Given the description of an element on the screen output the (x, y) to click on. 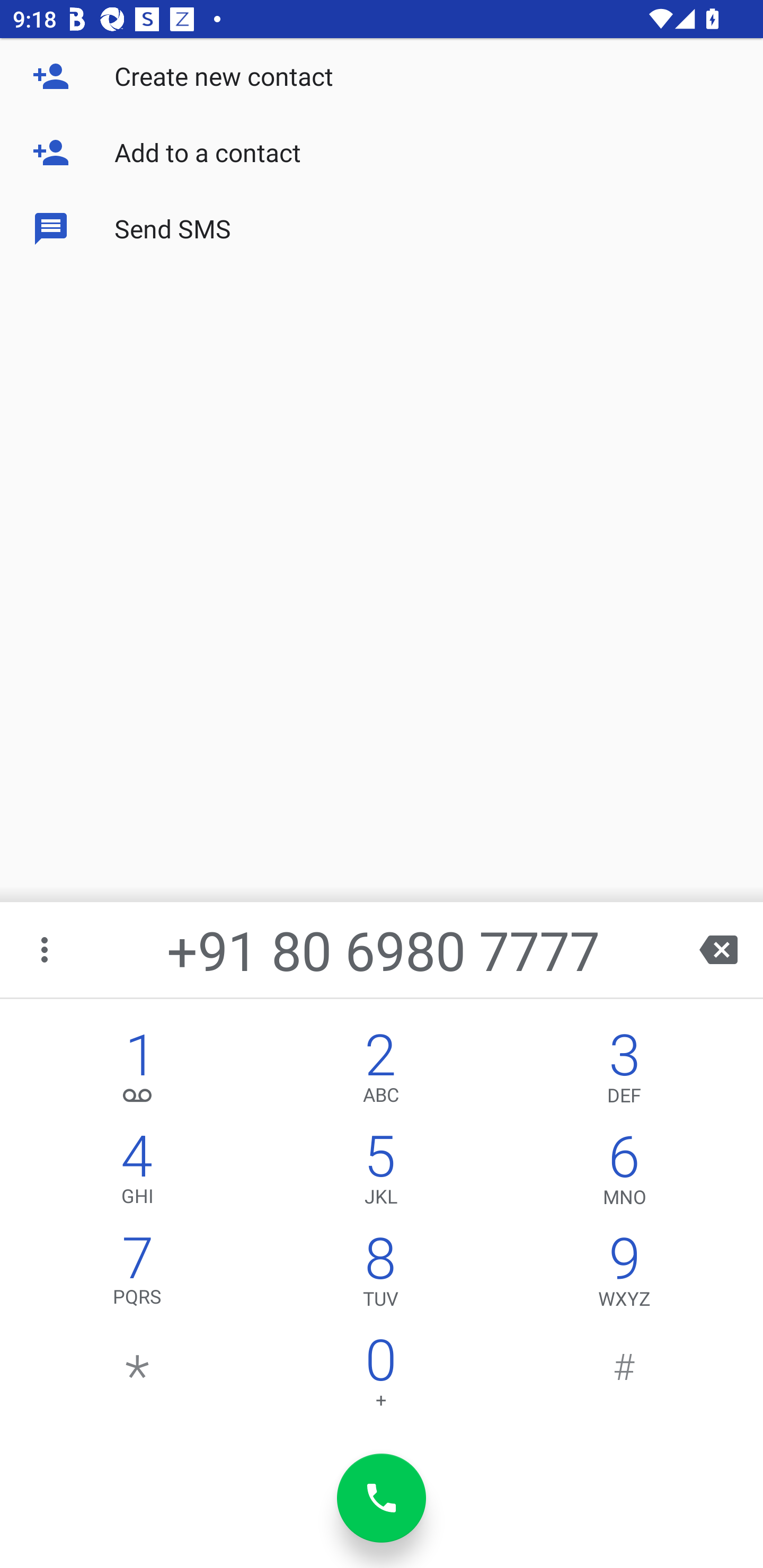
Create new contact (381, 75)
Add to a contact (381, 152)
Send SMS (381, 228)
+91 80 6980 7777 (382, 949)
backspace (718, 949)
More options (45, 949)
1, 1 (137, 1071)
2,ABC 2 ABC (380, 1071)
3,DEF 3 DEF (624, 1071)
4,GHI 4 GHI (137, 1173)
5,JKL 5 JKL (380, 1173)
6,MNO 6 MNO (624, 1173)
7,PQRS 7 PQRS (137, 1275)
8,TUV 8 TUV (380, 1275)
9,WXYZ 9 WXYZ (624, 1275)
* (137, 1377)
0 0 + (380, 1377)
# (624, 1377)
dial (381, 1497)
